Given the description of an element on the screen output the (x, y) to click on. 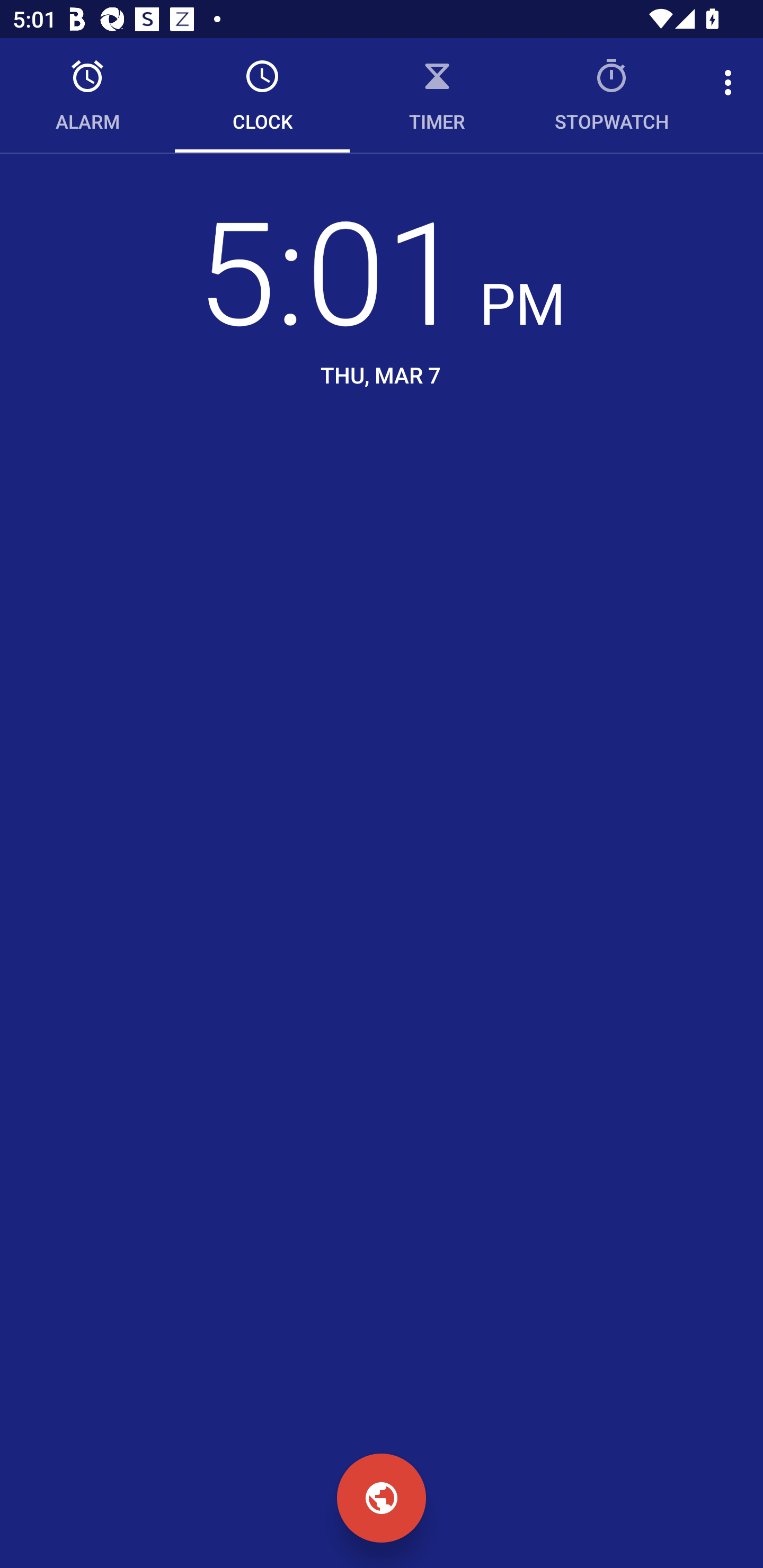
Alarm ALARM (87, 94)
Timer TIMER (436, 94)
Stopwatch STOPWATCH (611, 94)
More options (731, 81)
Cities (381, 1497)
